Given the description of an element on the screen output the (x, y) to click on. 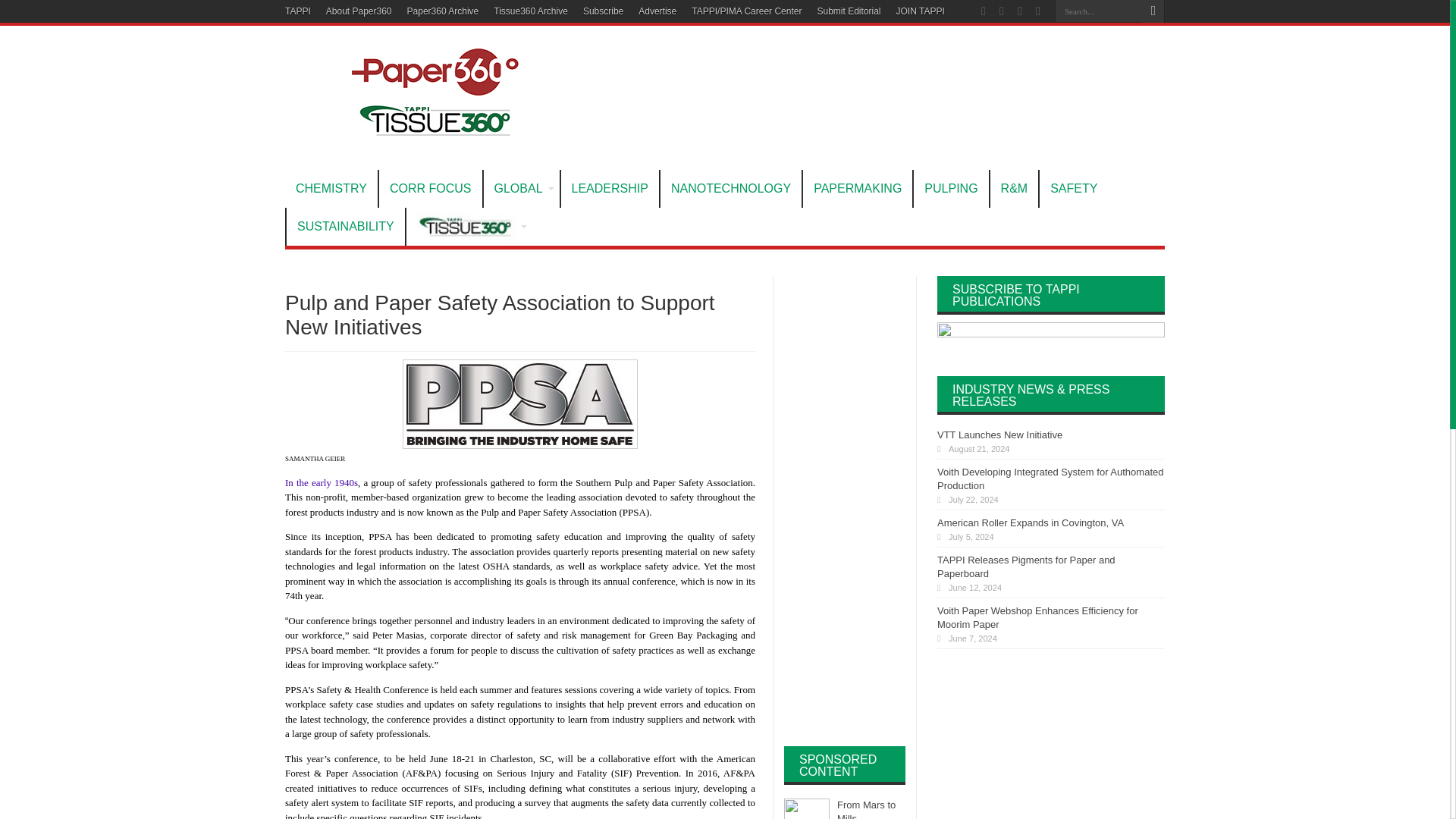
Paper 360 (436, 131)
Search... (1097, 11)
GLOBAL (520, 188)
Subscribe (603, 11)
Paper360 Archive (443, 11)
NANOTECHNOLOGY (730, 188)
TAPPI (298, 11)
LEADERSHIP (609, 188)
SUSTAINABILITY (344, 226)
CORR FOCUS (429, 188)
